Given the description of an element on the screen output the (x, y) to click on. 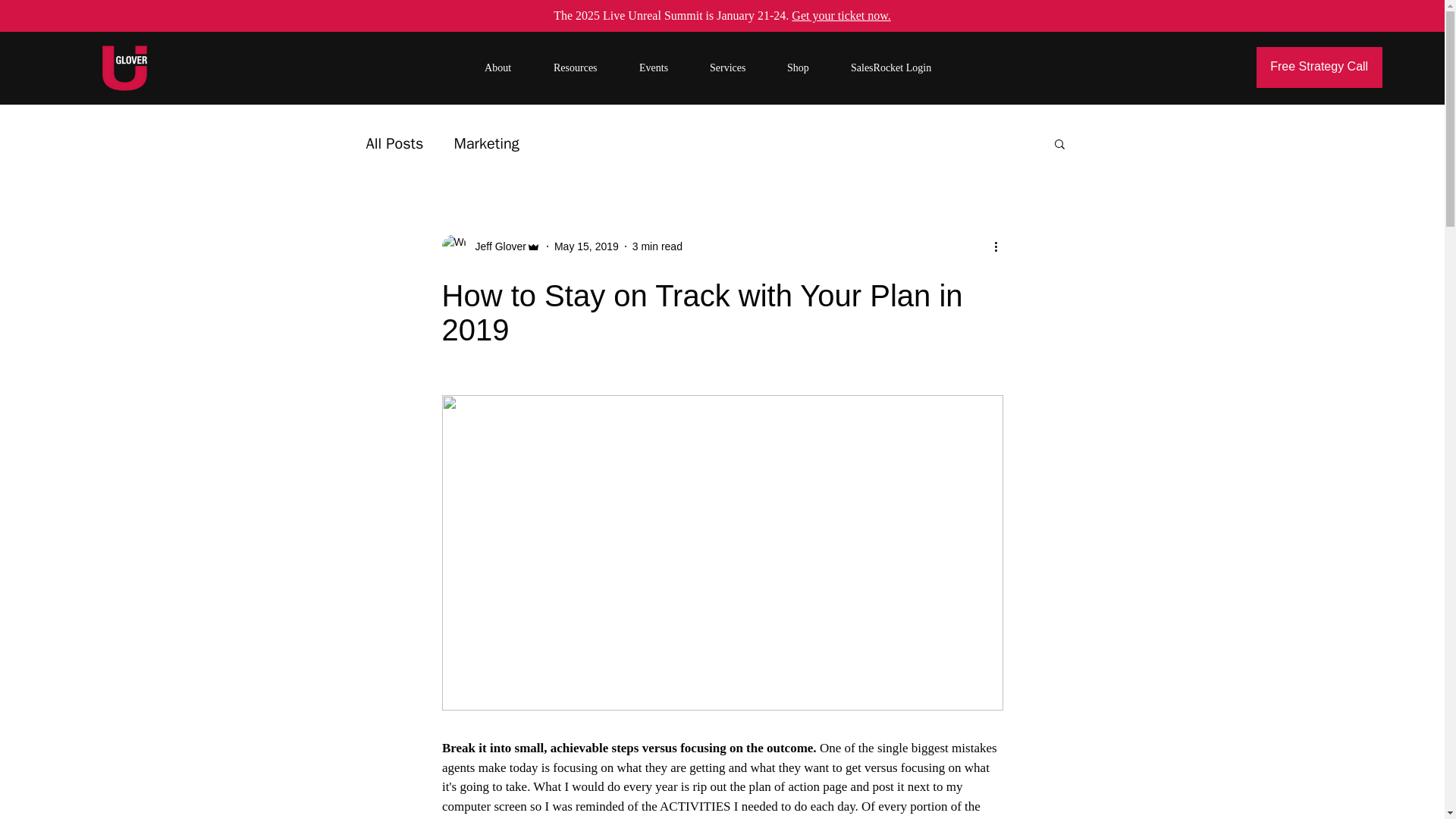
About (511, 67)
3 min read (656, 245)
Resources (588, 67)
Jeff Glover (495, 245)
May 15, 2019 (586, 245)
Get your ticket now. (840, 15)
